Given the description of an element on the screen output the (x, y) to click on. 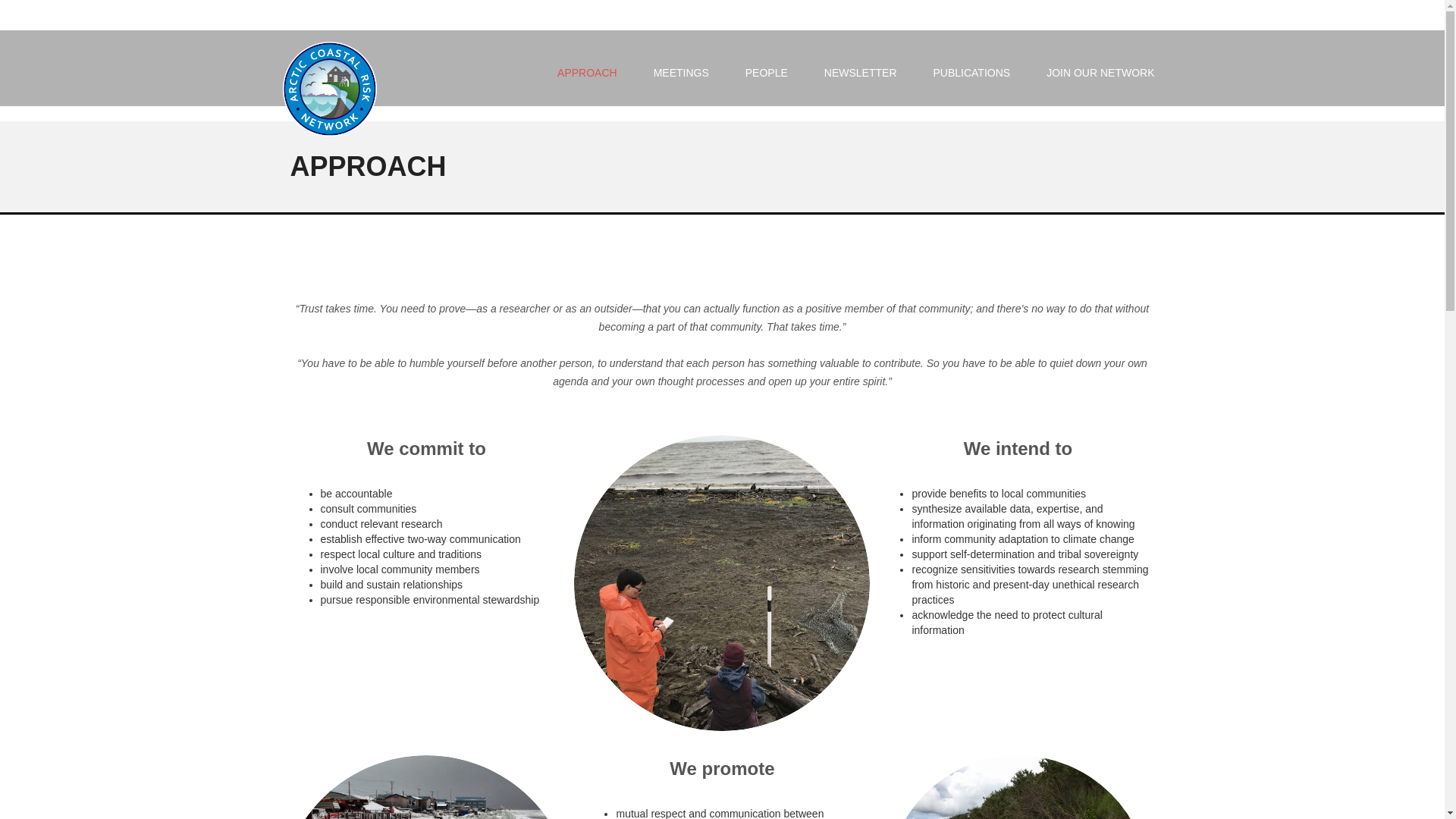
PUBLICATIONS (970, 72)
PEOPLE (766, 72)
JOIN OUR NETWORK (1090, 72)
APPROACH (586, 72)
MEETINGS (680, 72)
Arctic Coastal Risk Network (336, 76)
NEWSLETTER (860, 72)
